Given the description of an element on the screen output the (x, y) to click on. 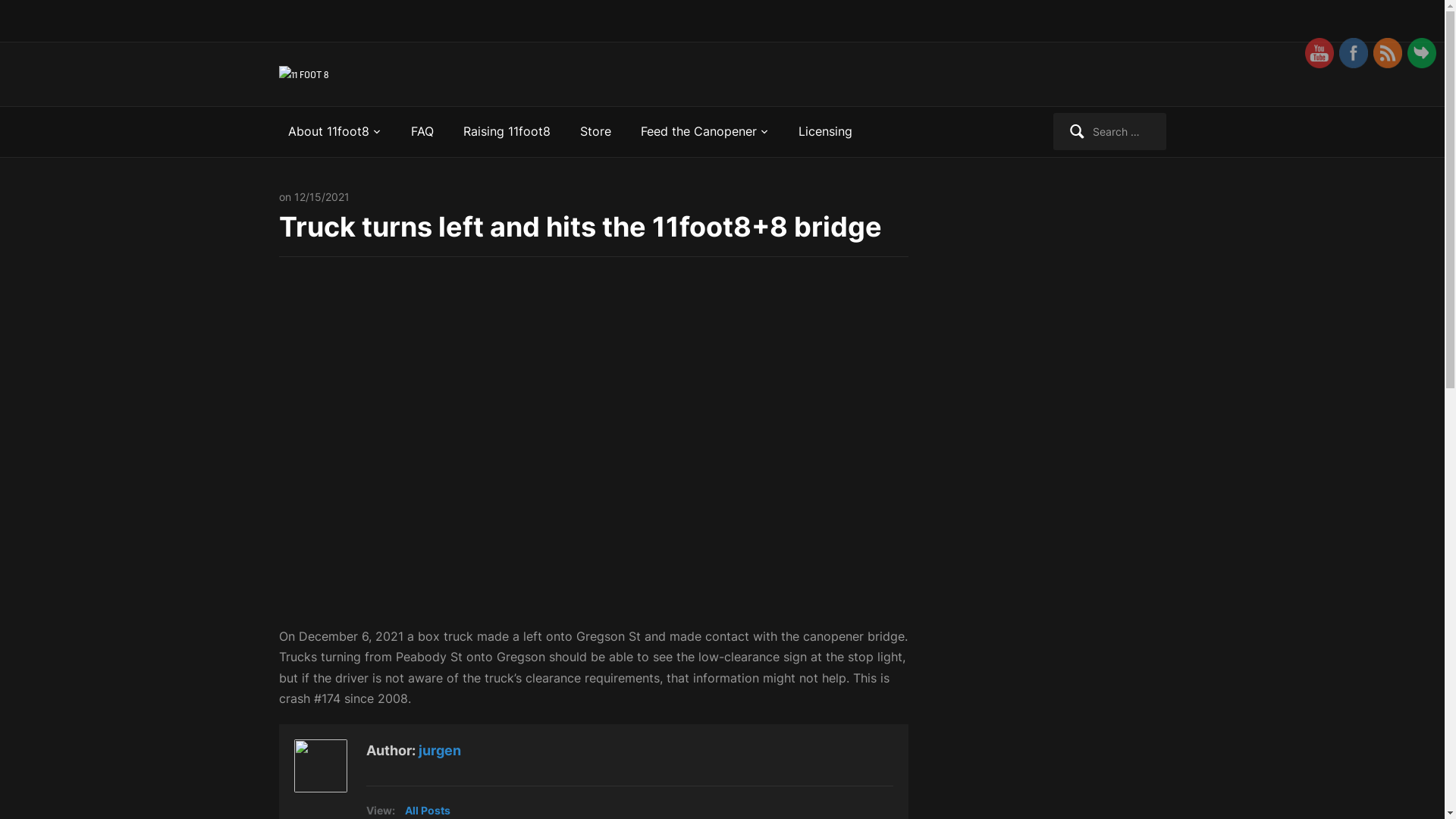
FAQ Element type: text (421, 131)
jurgen Element type: text (439, 750)
Raising 11foot8 Element type: text (505, 131)
Facebook Element type: hover (1353, 52)
Feed the Canopener Element type: text (703, 131)
Follow by Email Element type: hover (1421, 52)
Store Element type: text (594, 131)
Truck turns left and hits the 11foot8+8 bridge Element type: hover (593, 449)
About 11foot8 Element type: text (334, 131)
RSS Element type: hover (1387, 52)
Licensing Element type: text (824, 131)
Truck turns left and hits the 11foot8+8 bridge Element type: text (580, 226)
YouTube Element type: hover (1319, 52)
All Posts Element type: text (427, 809)
Search Element type: text (28, 15)
